Given the description of an element on the screen output the (x, y) to click on. 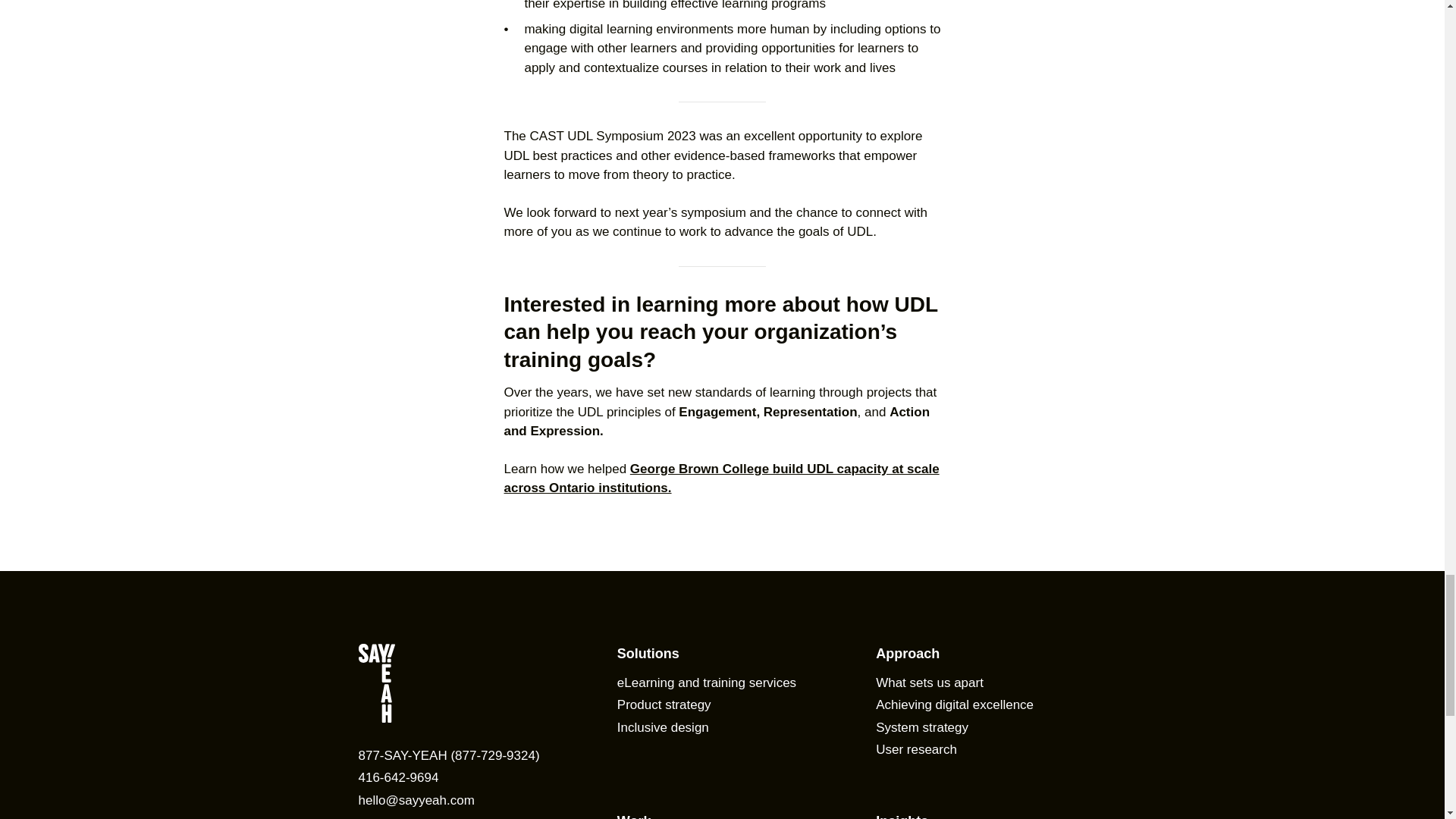
Insights (902, 816)
Work (633, 816)
eLearning and training services (706, 682)
System strategy (922, 727)
Approach (907, 653)
Achieving digital excellence (954, 704)
Inclusive design (663, 727)
Say Yeah! Home (462, 685)
User research (916, 749)
